Given the description of an element on the screen output the (x, y) to click on. 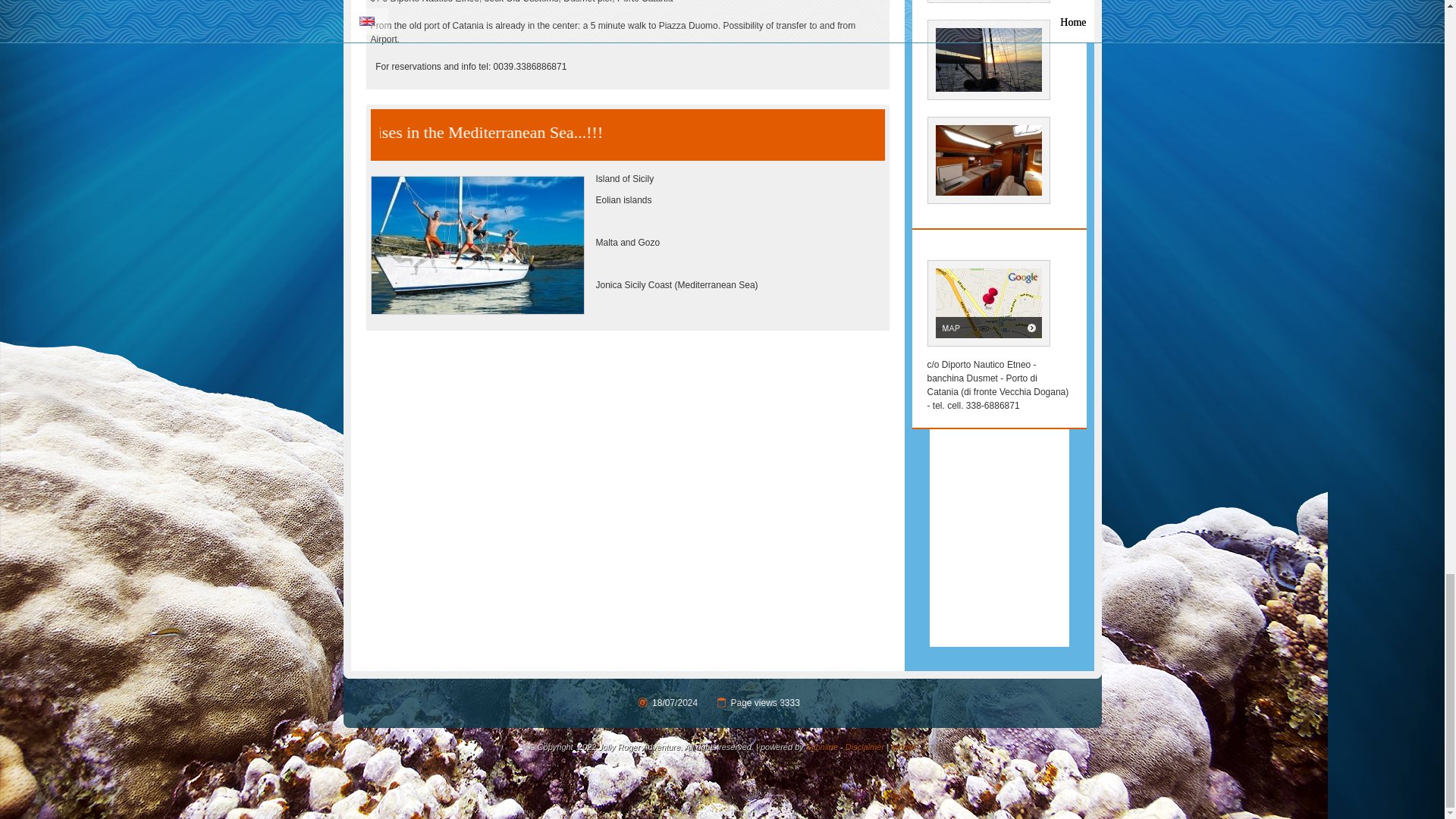
Disclaimer (864, 746)
Crea il tuo sito web (822, 746)
Mobile (903, 746)
Sitonline (822, 746)
